Given the description of an element on the screen output the (x, y) to click on. 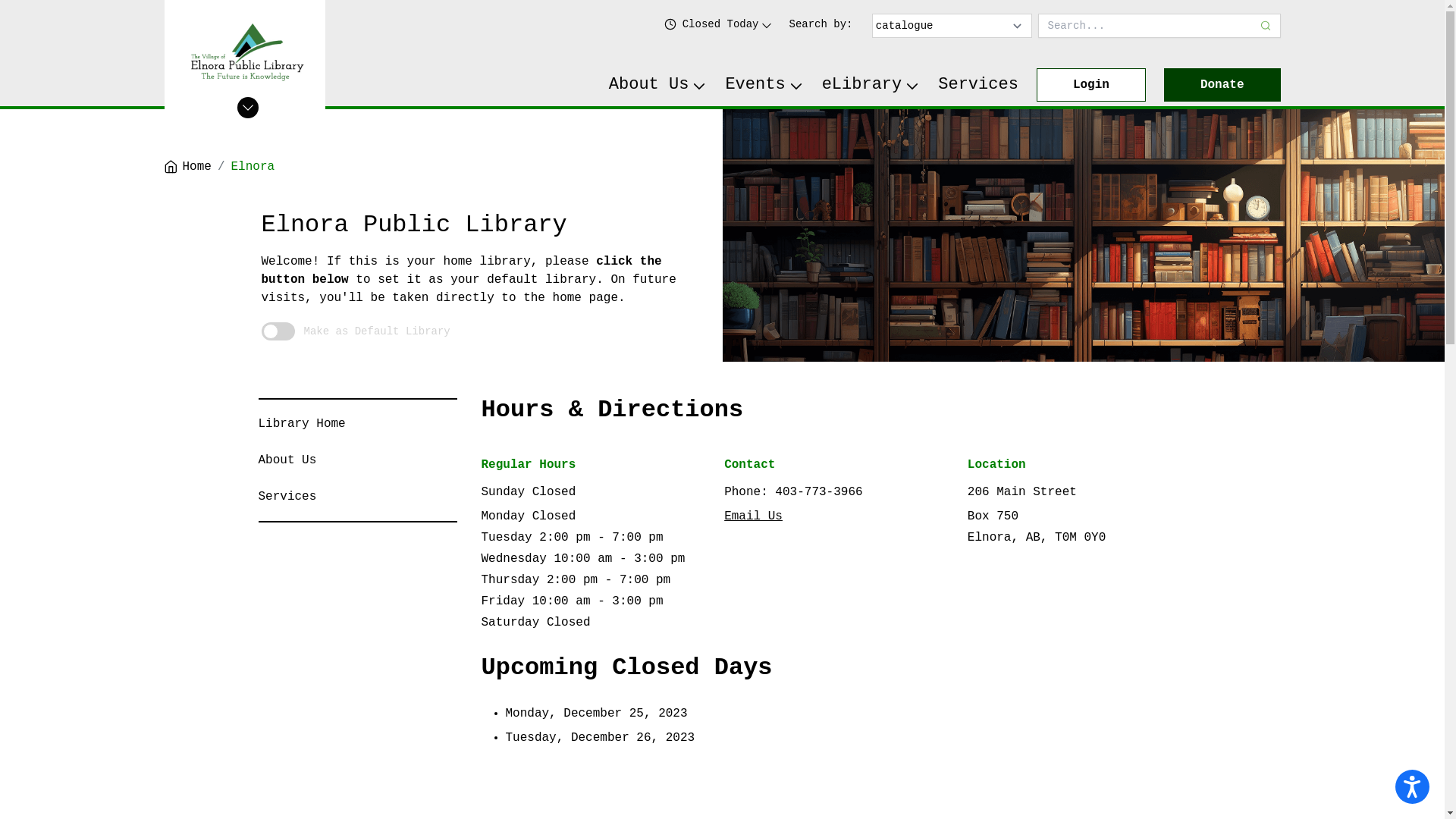
Events Element type: text (763, 84)
eLibrary Element type: text (871, 84)
About Us Element type: text (657, 84)
Login Element type: text (1090, 84)
Donate Element type: text (1222, 84)
Services Element type: text (978, 84)
Home Element type: text (186, 166)
About Us Element type: text (286, 460)
Email Us Element type: text (753, 516)
Library Home Element type: text (301, 423)
Elnora Element type: text (253, 166)
Services Element type: text (286, 496)
